Given the description of an element on the screen output the (x, y) to click on. 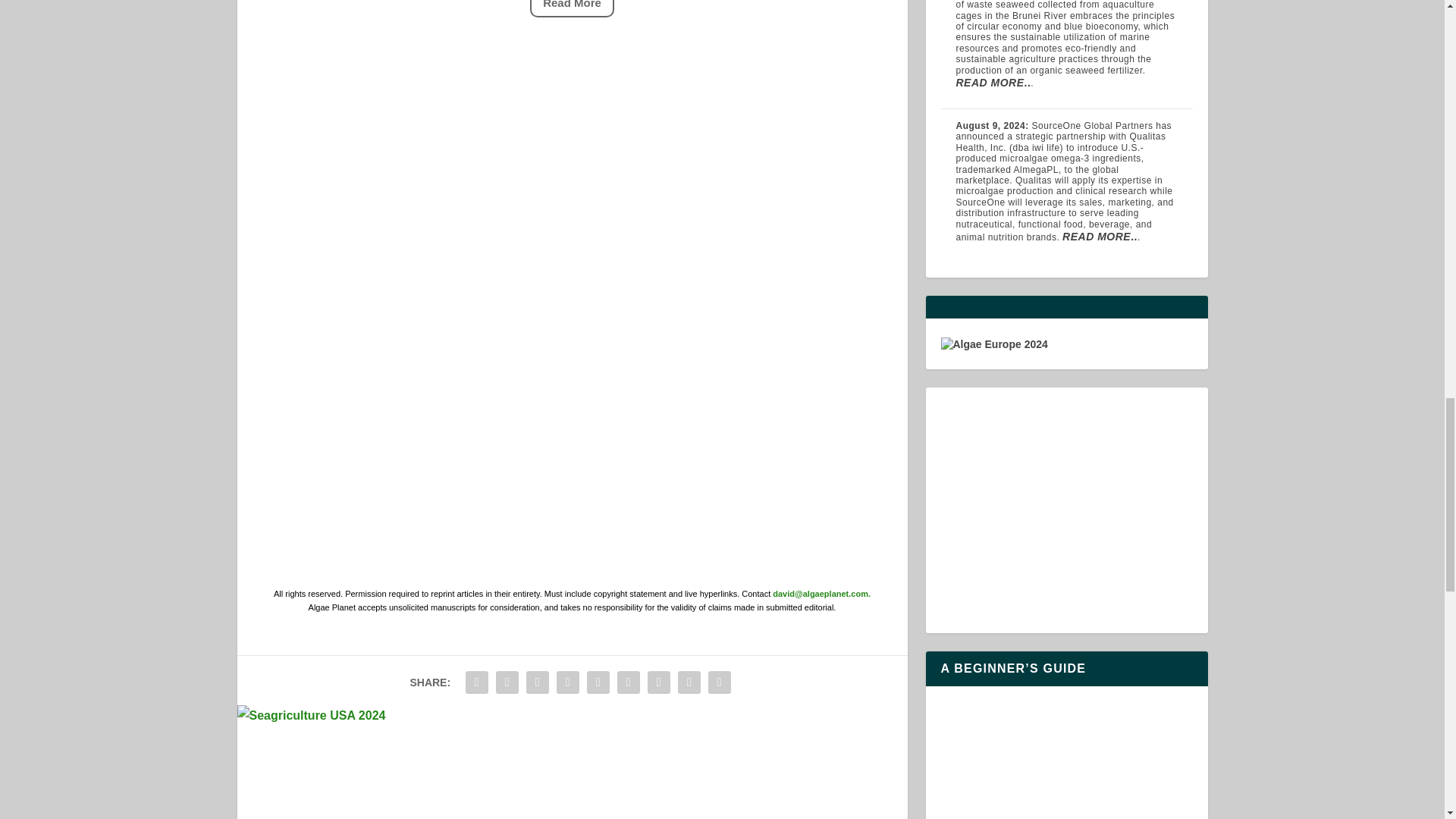
Read More (571, 8)
